Given the description of an element on the screen output the (x, y) to click on. 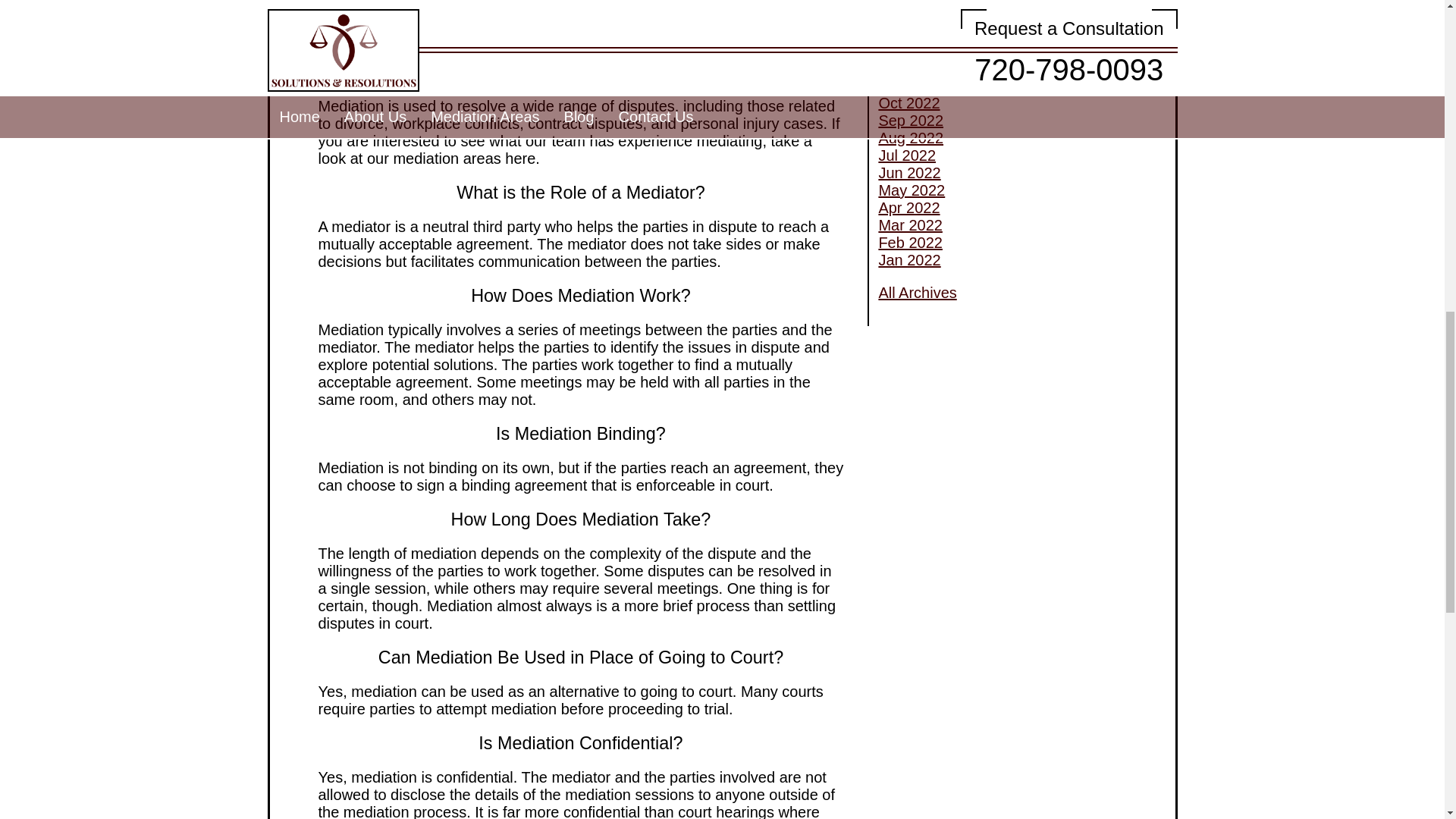
Myths About Divorce Mediation Debunked (982, 273)
How Mediation Can Guide You Through a Gray Divorce (980, 116)
When You Want Your Divorce to Be Discreet (985, 238)
HOA Mediation (928, 176)
What You Need to Know Before Getting a Divorce (983, 14)
Are Mediation Agreements Legally Binding? (967, 81)
Mediation for Medical Malpractice Cases (990, 203)
How Mediation Can Help with Estate Planning (977, 151)
